Given the description of an element on the screen output the (x, y) to click on. 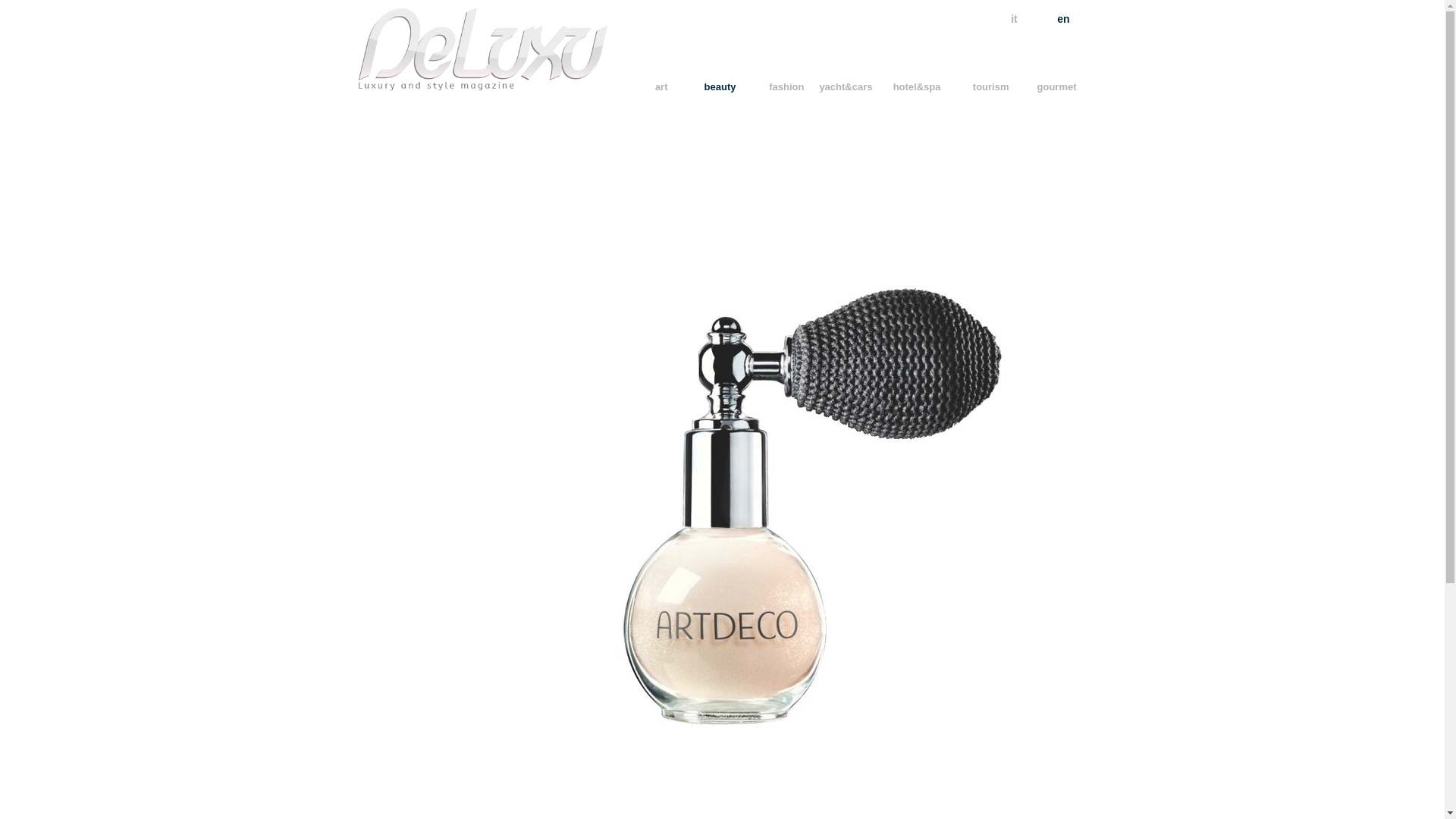
gourmet (1056, 86)
fashion (785, 86)
it (1007, 18)
beauty (720, 86)
tourism (990, 86)
en (1069, 18)
art (661, 86)
